Given the description of an element on the screen output the (x, y) to click on. 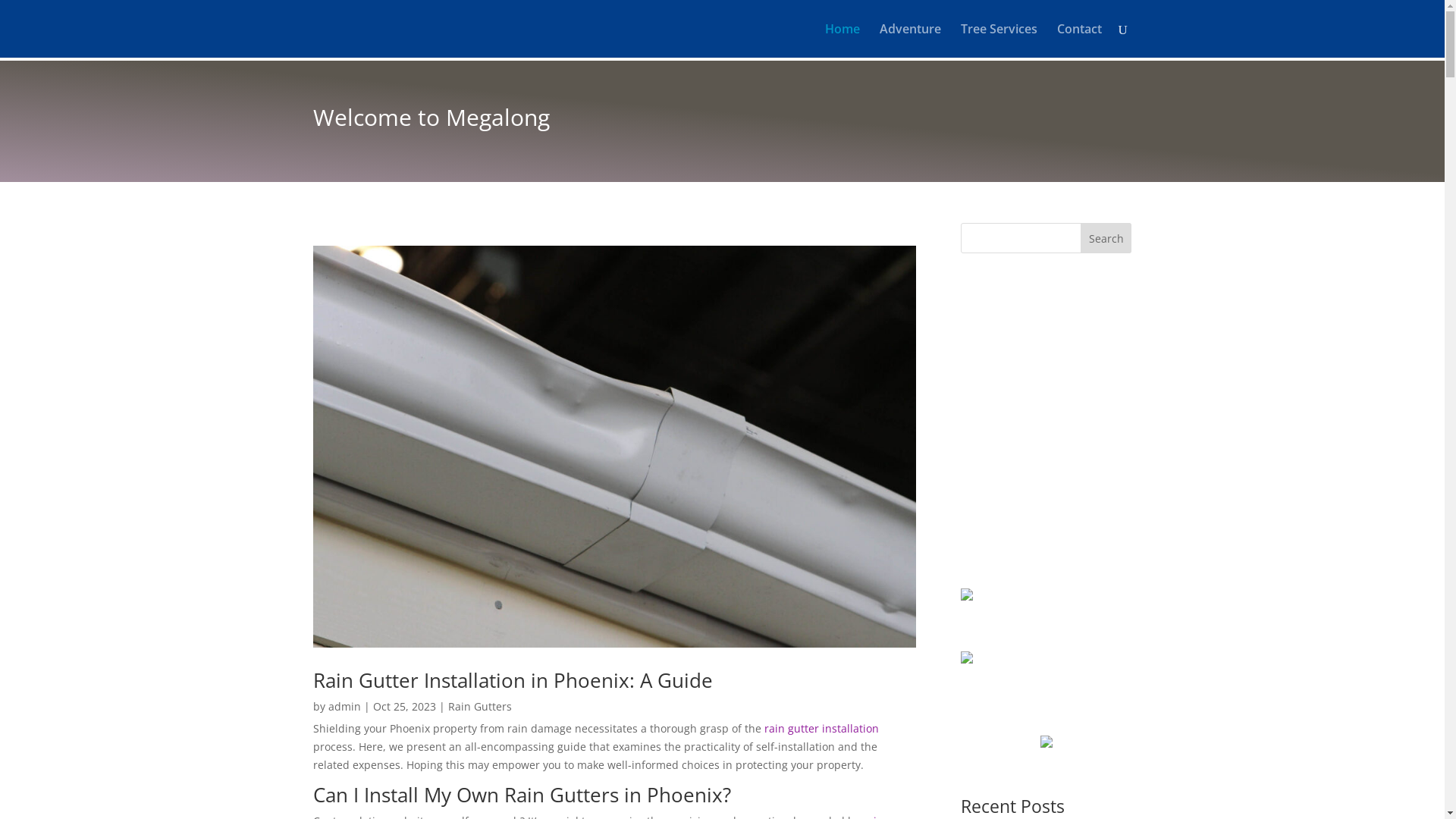
Rain Gutter Installation in Phoenix: A Guide Element type: text (512, 679)
YouTube video player Element type: hover (1045, 417)
Tree Services Element type: text (998, 40)
Adventure Element type: text (910, 40)
Search Element type: text (1106, 237)
Rain Gutters Element type: text (479, 706)
Home Element type: text (842, 40)
admin Element type: text (343, 706)
Contact Element type: text (1079, 40)
rain gutter installation Element type: text (821, 728)
